Given the description of an element on the screen output the (x, y) to click on. 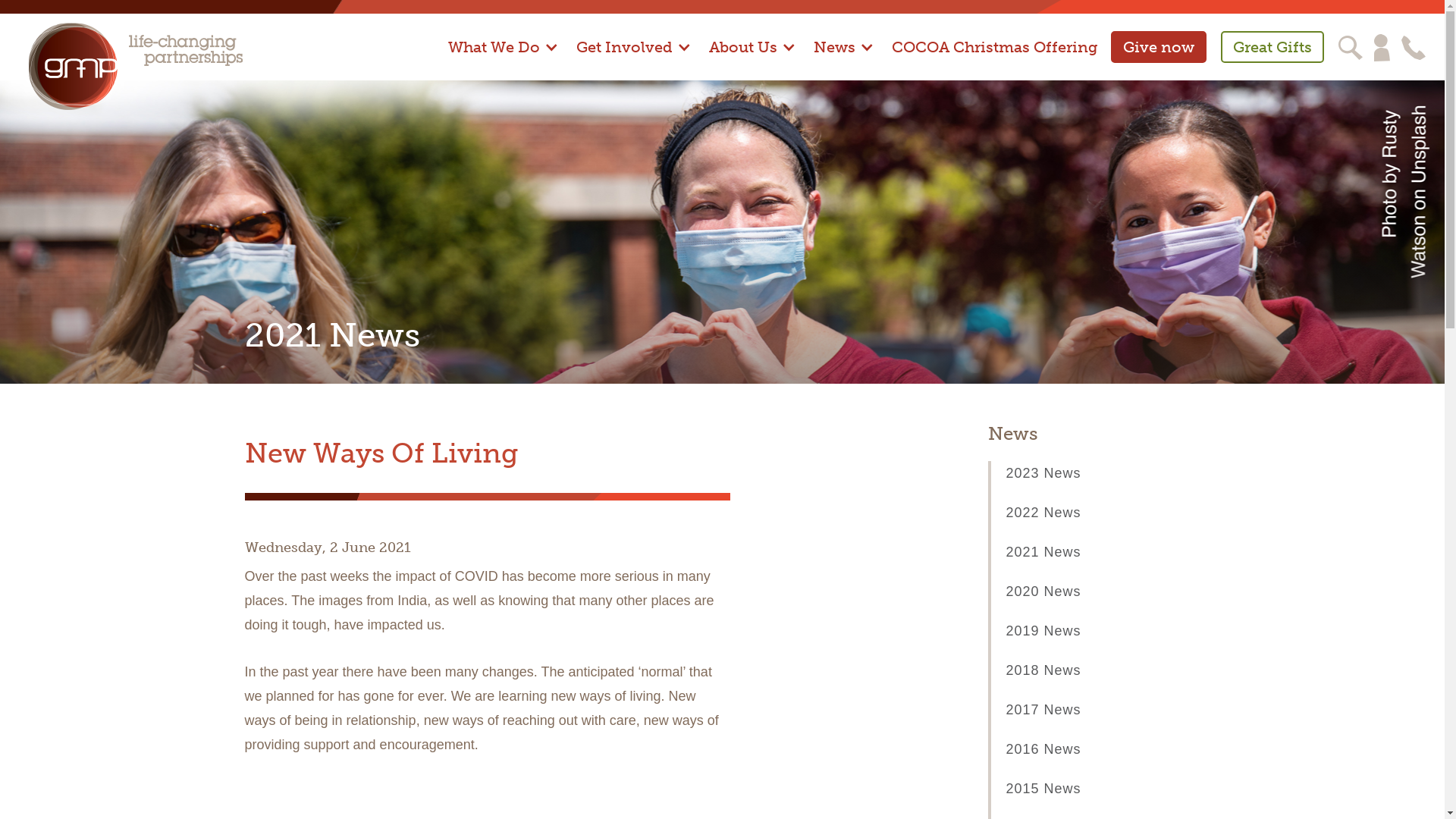
2021 News Element type: text (1042, 551)
2016 News Element type: text (1042, 748)
About Us Element type: text (752, 55)
COCOA Christmas Offering Element type: text (994, 55)
2015 News Element type: text (1042, 788)
Get Involved Element type: text (633, 55)
2019 News Element type: text (1042, 630)
Contact Us Element type: hover (1413, 46)
2018 News Element type: text (1042, 669)
2017 News Element type: text (1042, 709)
2020 News Element type: text (1042, 591)
Great Gifts Element type: text (1272, 46)
News Element type: text (843, 55)
2022 News Element type: text (1042, 512)
What We Do Element type: text (503, 55)
2023 News Element type: text (1042, 472)
Search GMP Element type: hover (1350, 46)
Give now Element type: text (1158, 46)
